Given the description of an element on the screen output the (x, y) to click on. 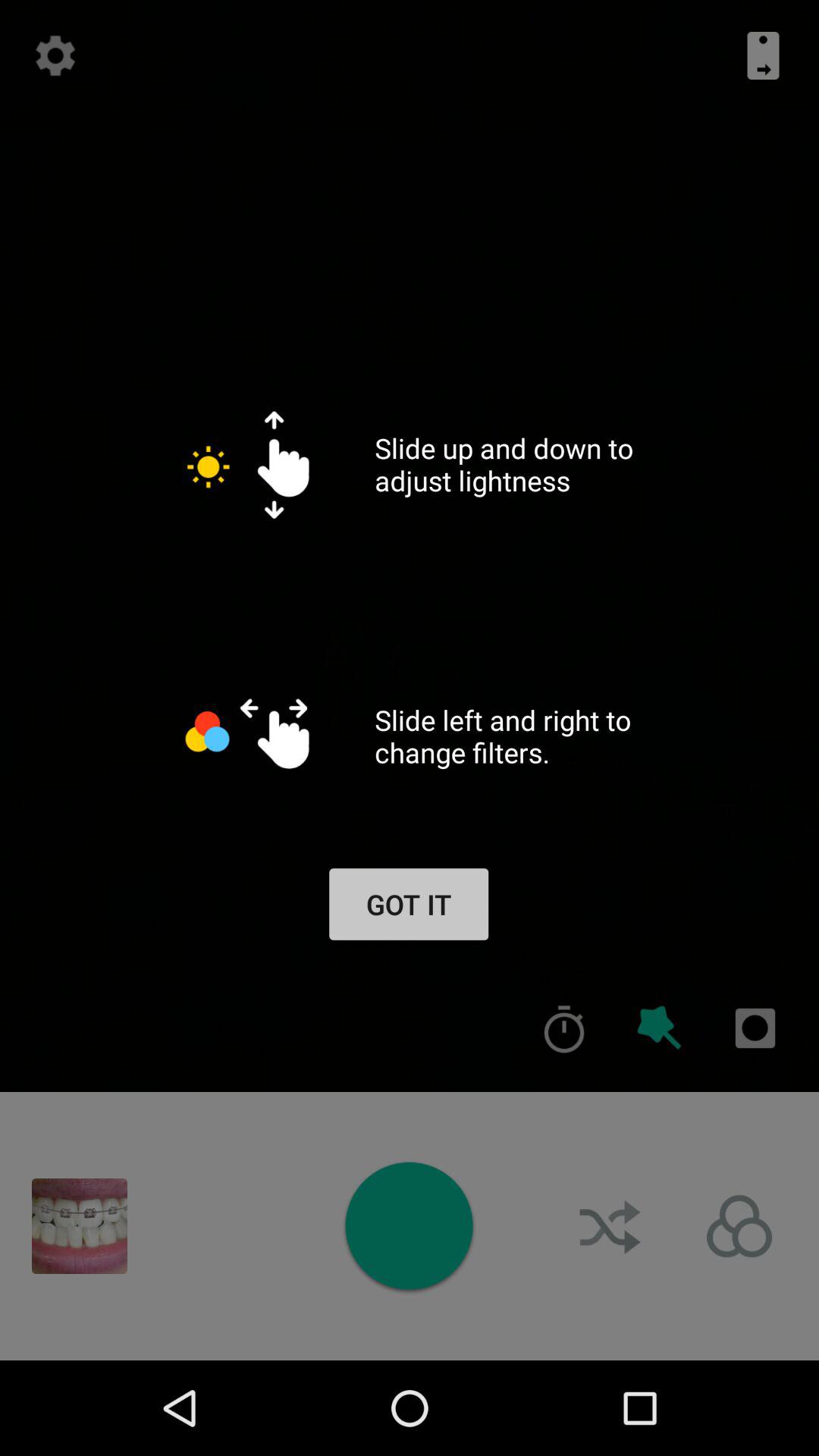
launch icon at the bottom (408, 1225)
